Given the description of an element on the screen output the (x, y) to click on. 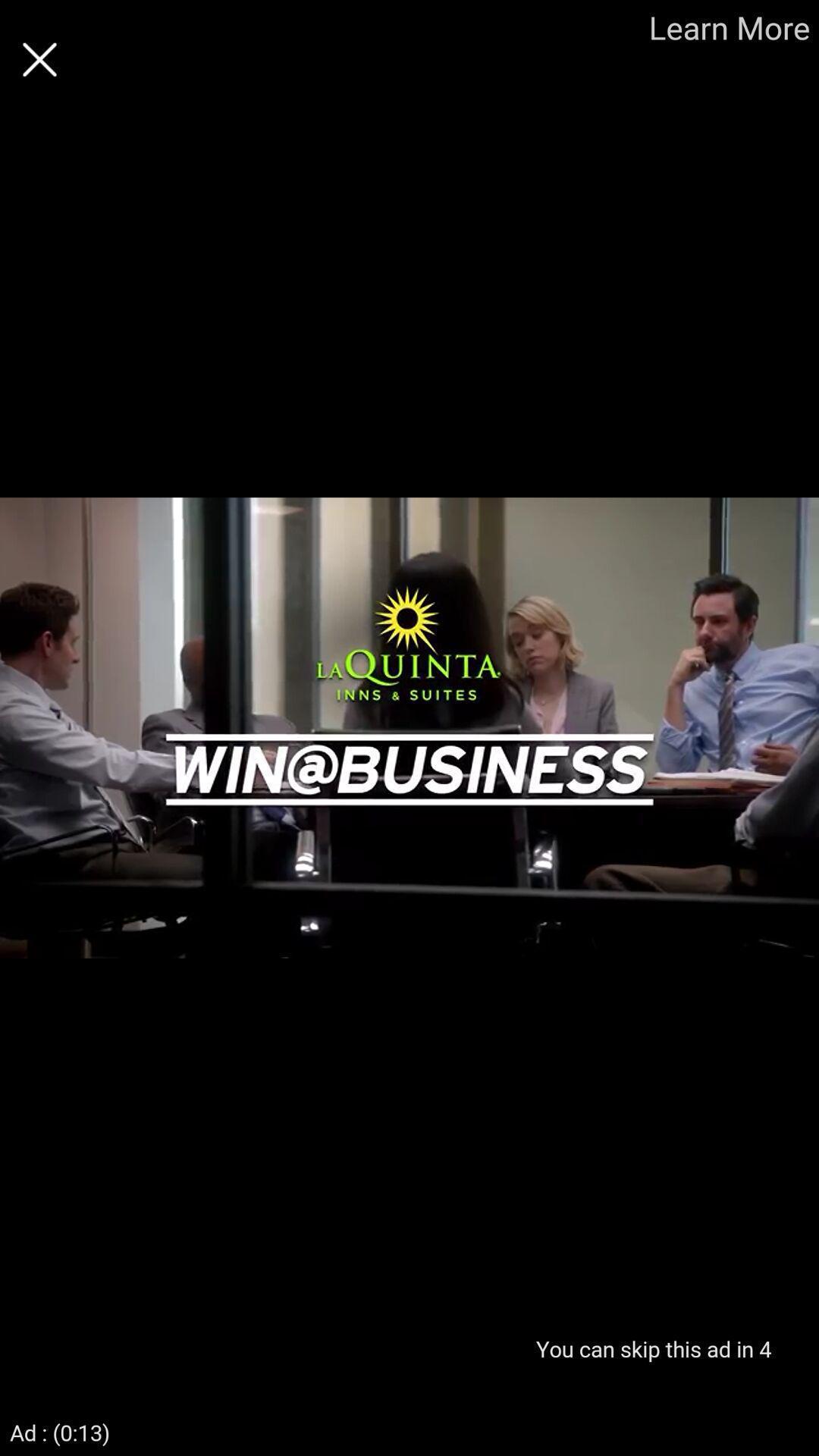
close (39, 59)
